Given the description of an element on the screen output the (x, y) to click on. 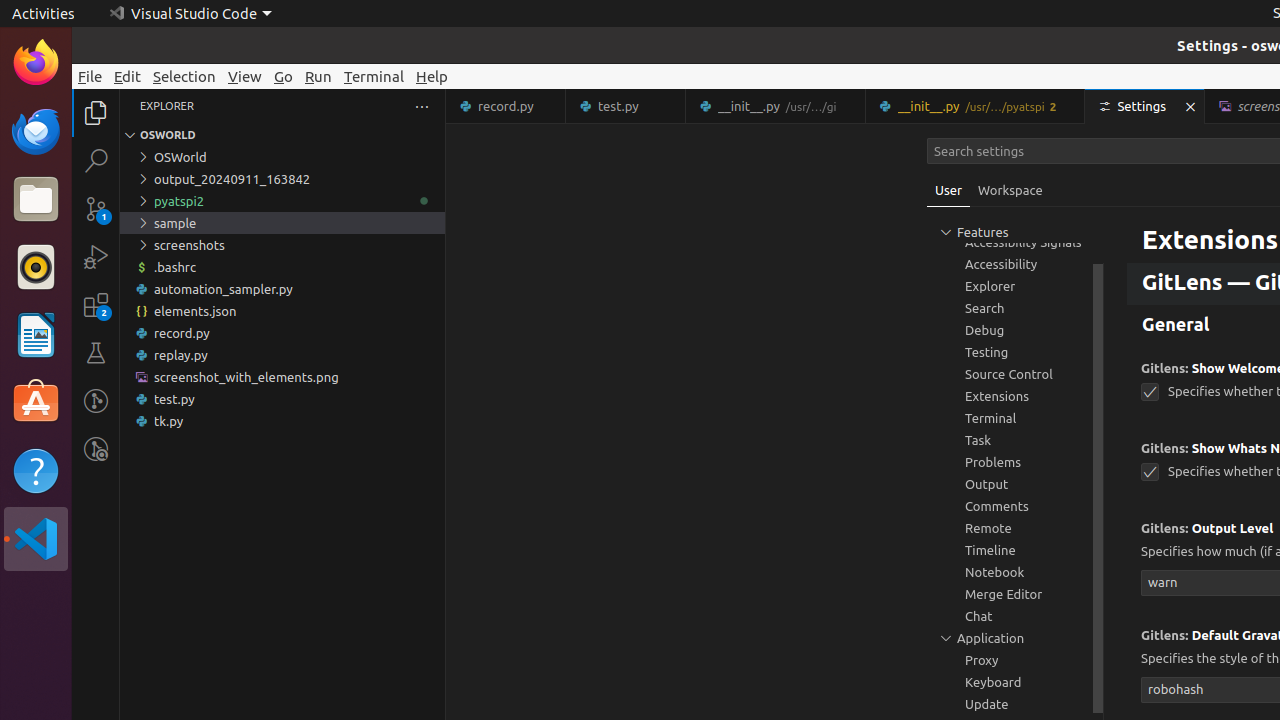
Run and Debug (Ctrl+Shift+D) Element type: page-tab (96, 257)
Accessibility, group Element type: tree-item (1015, 263)
Edit Element type: push-button (127, 76)
Timeline, group Element type: tree-item (1015, 550)
Search (Ctrl+Shift+F) Element type: page-tab (96, 160)
